Given the description of an element on the screen output the (x, y) to click on. 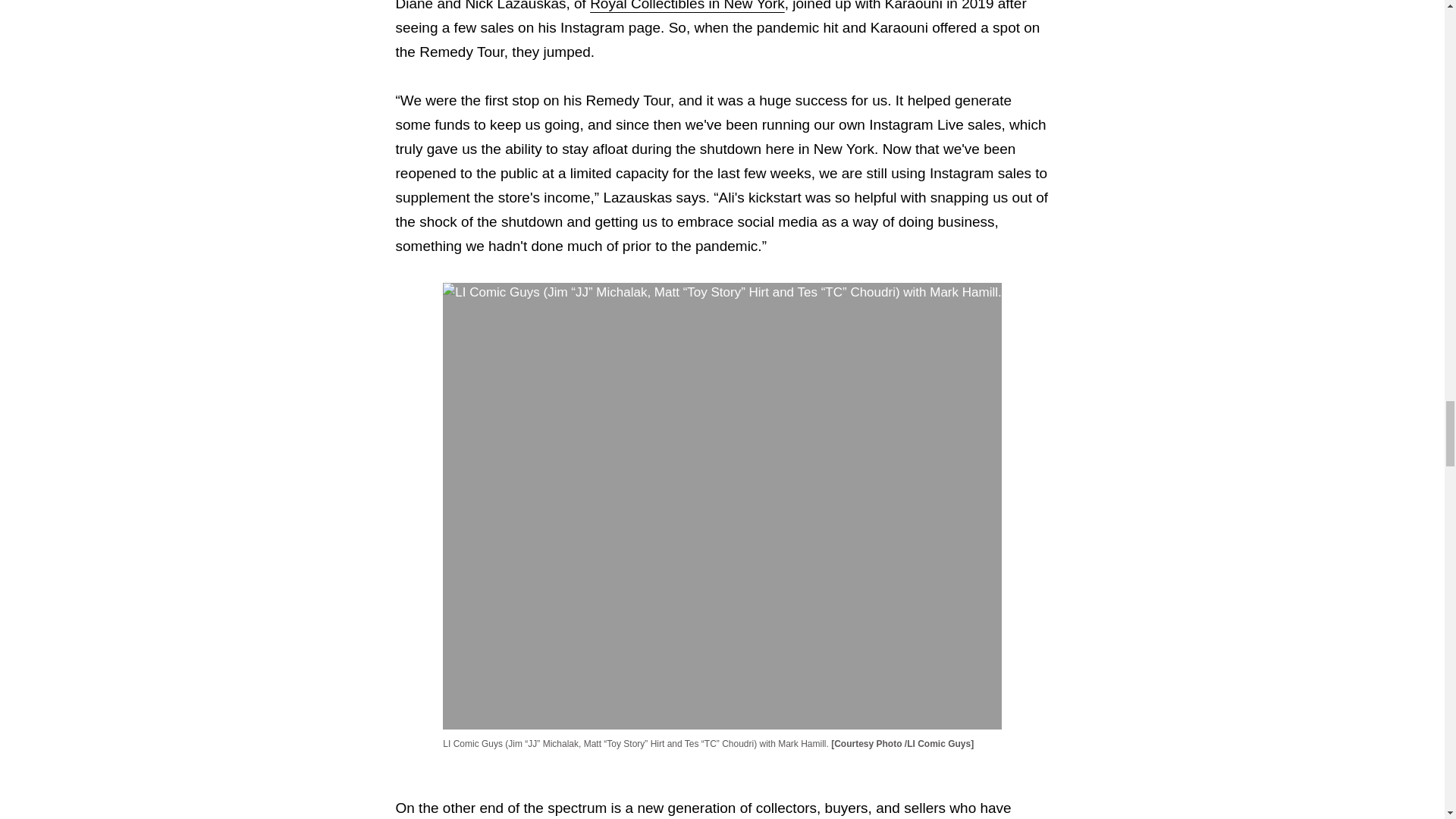
Royal Collectibles in New York (686, 5)
